Given the description of an element on the screen output the (x, y) to click on. 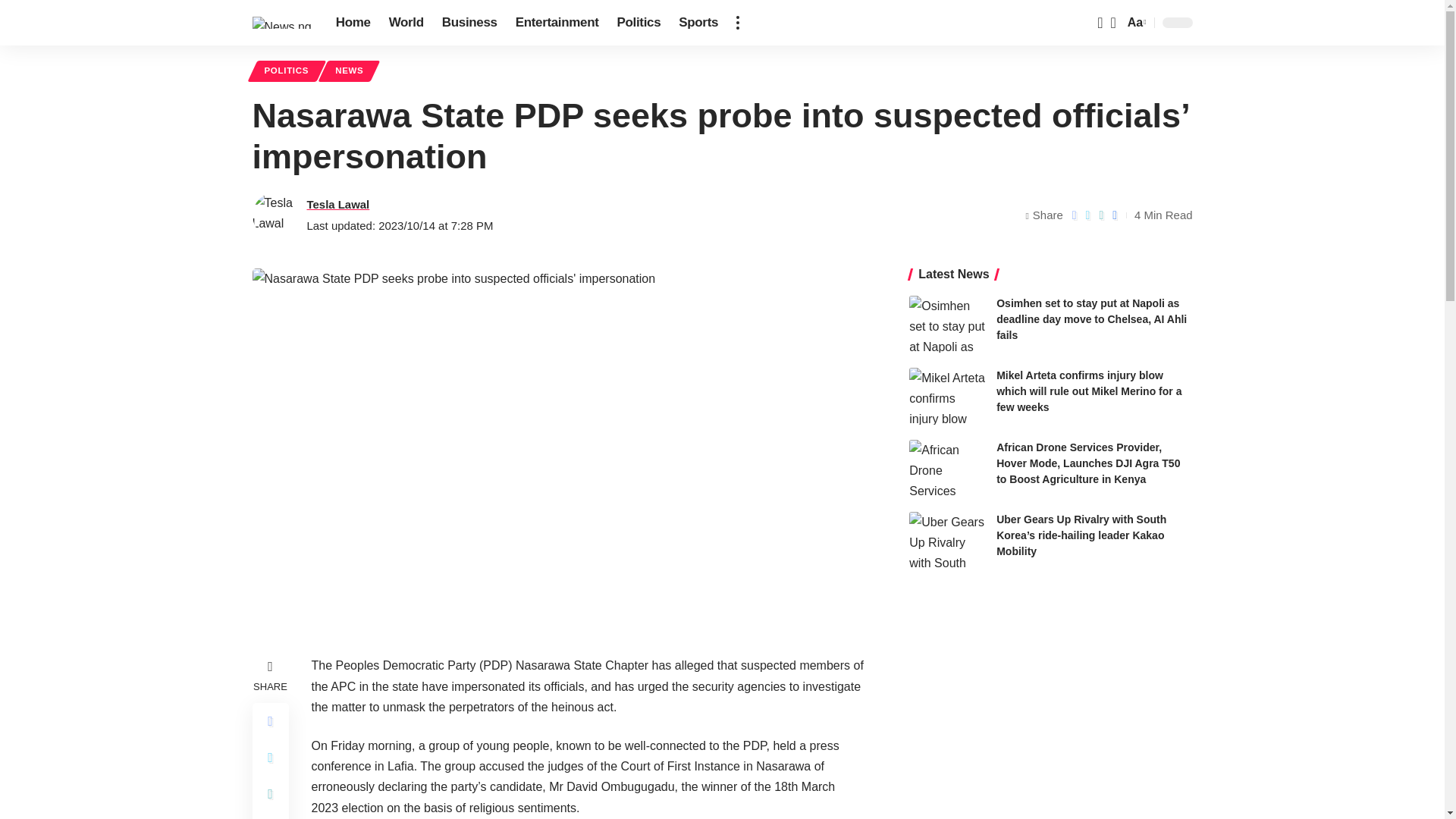
World (406, 22)
Sports (697, 22)
Home (353, 22)
News.ng (281, 22)
Politics (638, 22)
Entertainment (557, 22)
Business (469, 22)
